Given the description of an element on the screen output the (x, y) to click on. 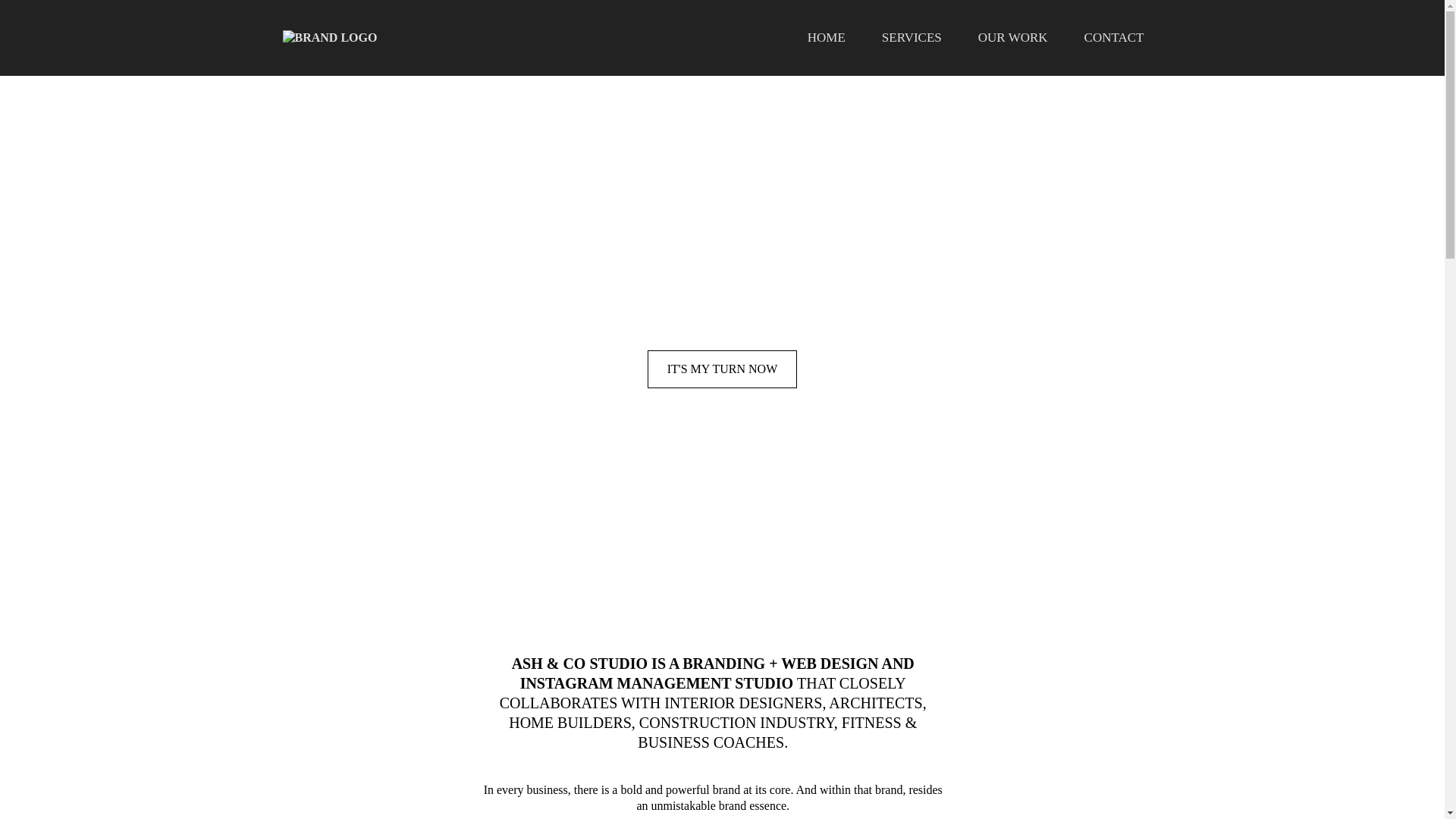
IT'S MY TURN NOW (722, 369)
CONTACT (1113, 38)
SERVICES (911, 38)
OUR WORK (1012, 38)
HOME (826, 38)
